Given the description of an element on the screen output the (x, y) to click on. 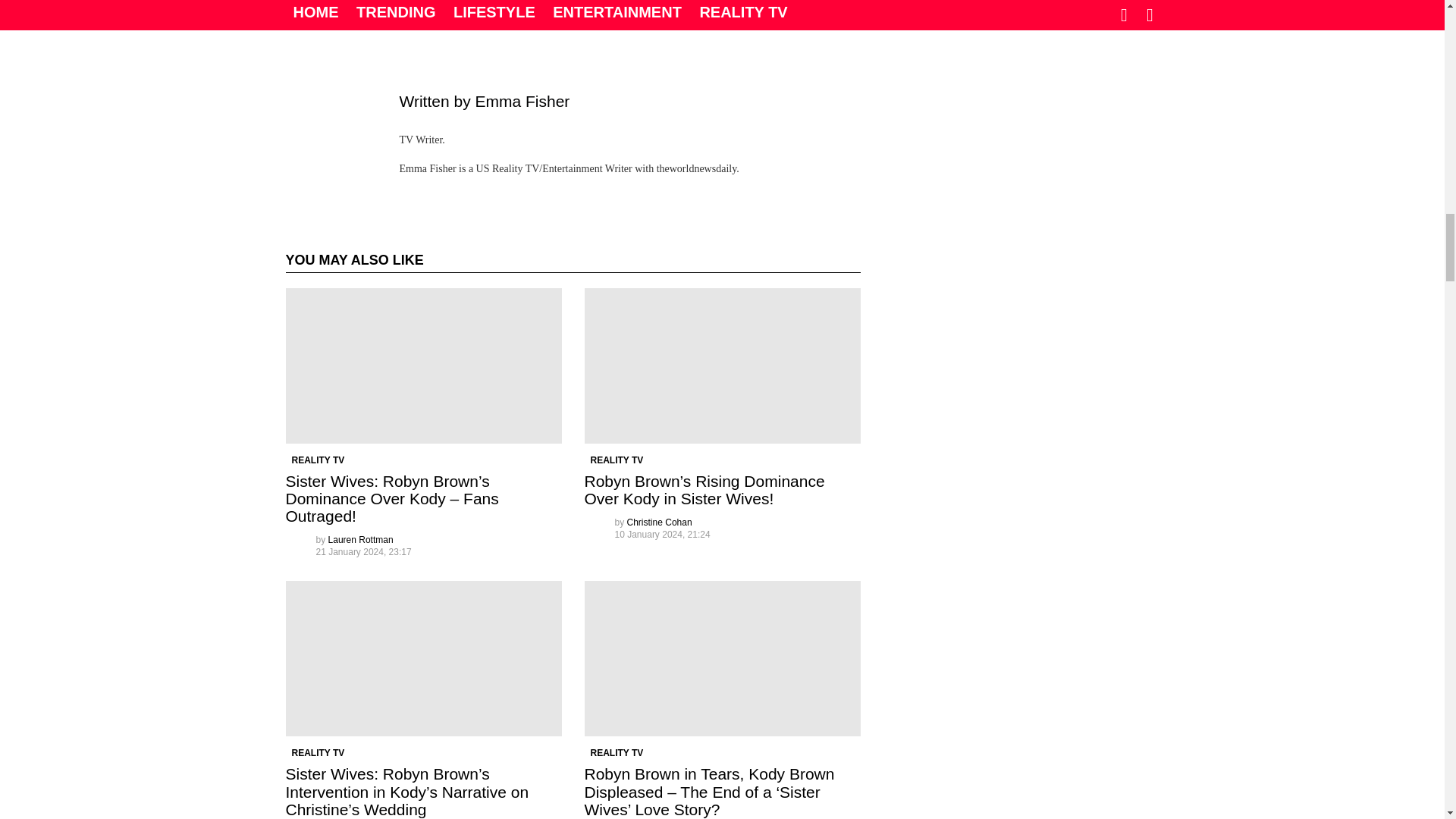
REALITY TV (317, 752)
REALITY TV (317, 459)
REALITY TV (616, 459)
Christine Cohan (660, 521)
Emma Fisher (521, 100)
Posts by Lauren Rottman (361, 539)
Lauren Rottman (361, 539)
Posts by Christine Cohan (660, 521)
